Given the description of an element on the screen output the (x, y) to click on. 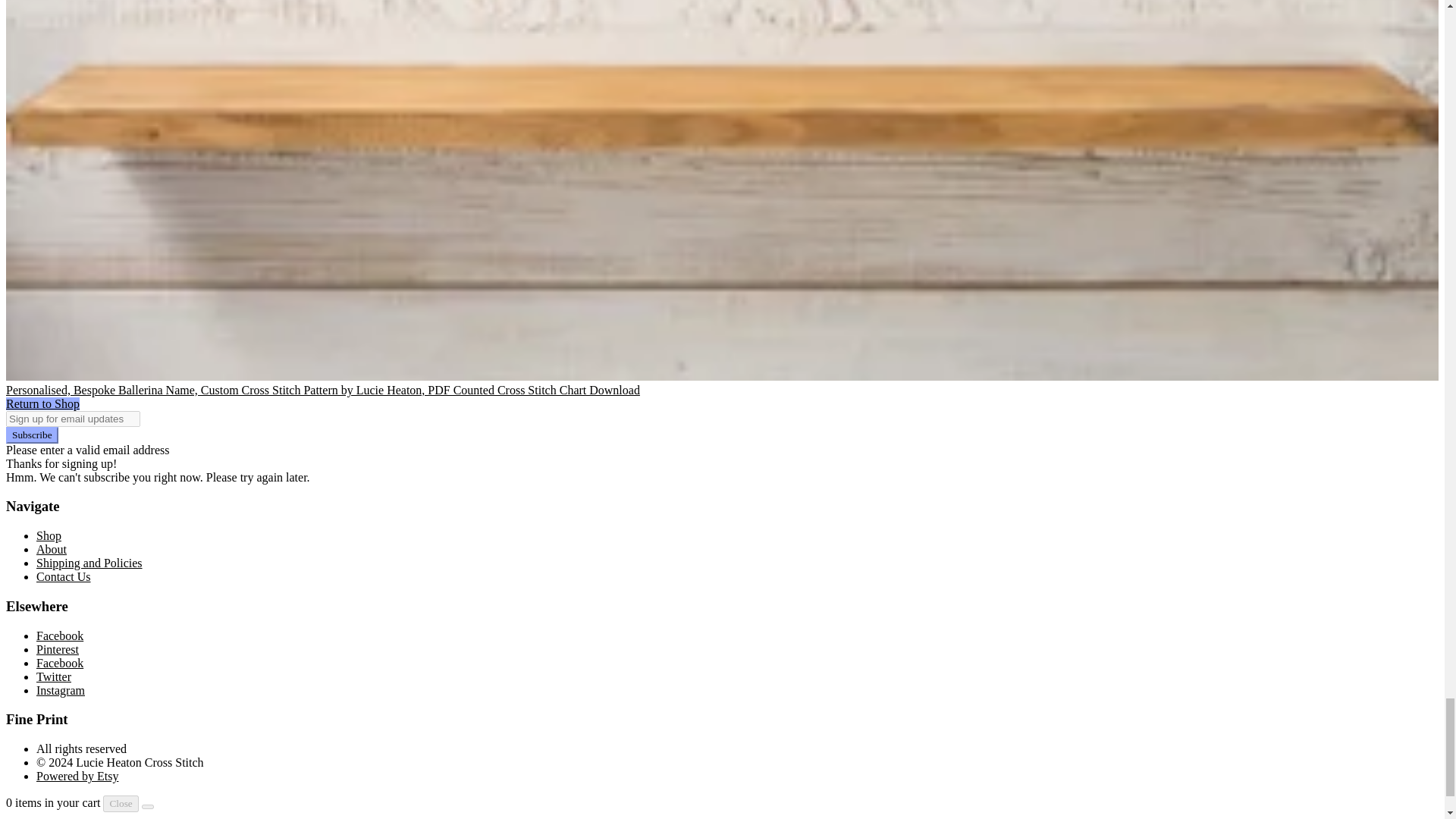
About (51, 549)
Subscribe (31, 434)
Close (120, 803)
Facebook (59, 635)
Pinterest (57, 649)
Instagram (60, 689)
Shop (48, 535)
Shipping and Policies (89, 562)
Twitter (53, 676)
Powered by Etsy (76, 775)
